Given the description of an element on the screen output the (x, y) to click on. 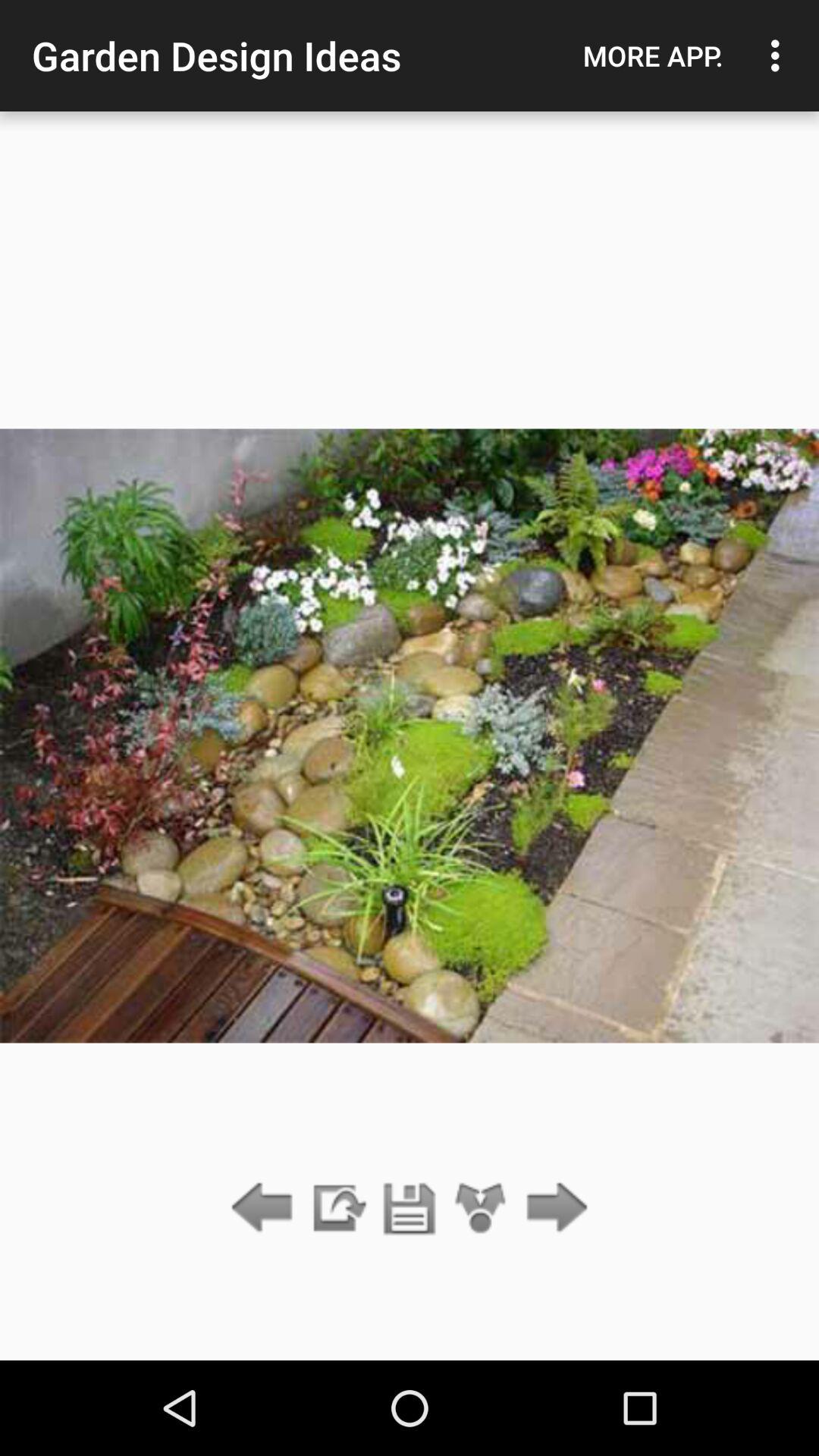
open the item below the garden design ideas item (337, 1208)
